Given the description of an element on the screen output the (x, y) to click on. 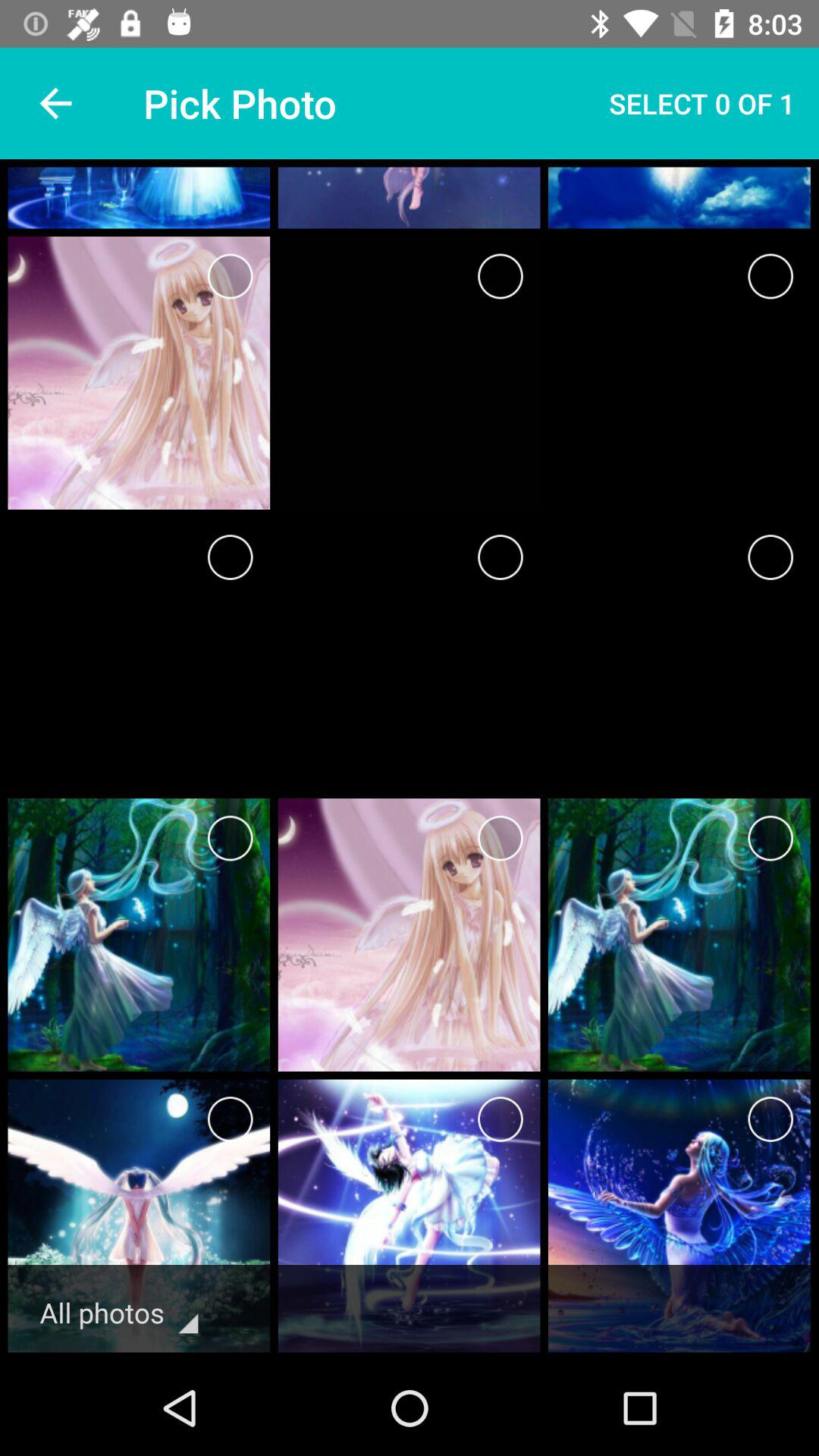
click select option (230, 276)
